Given the description of an element on the screen output the (x, y) to click on. 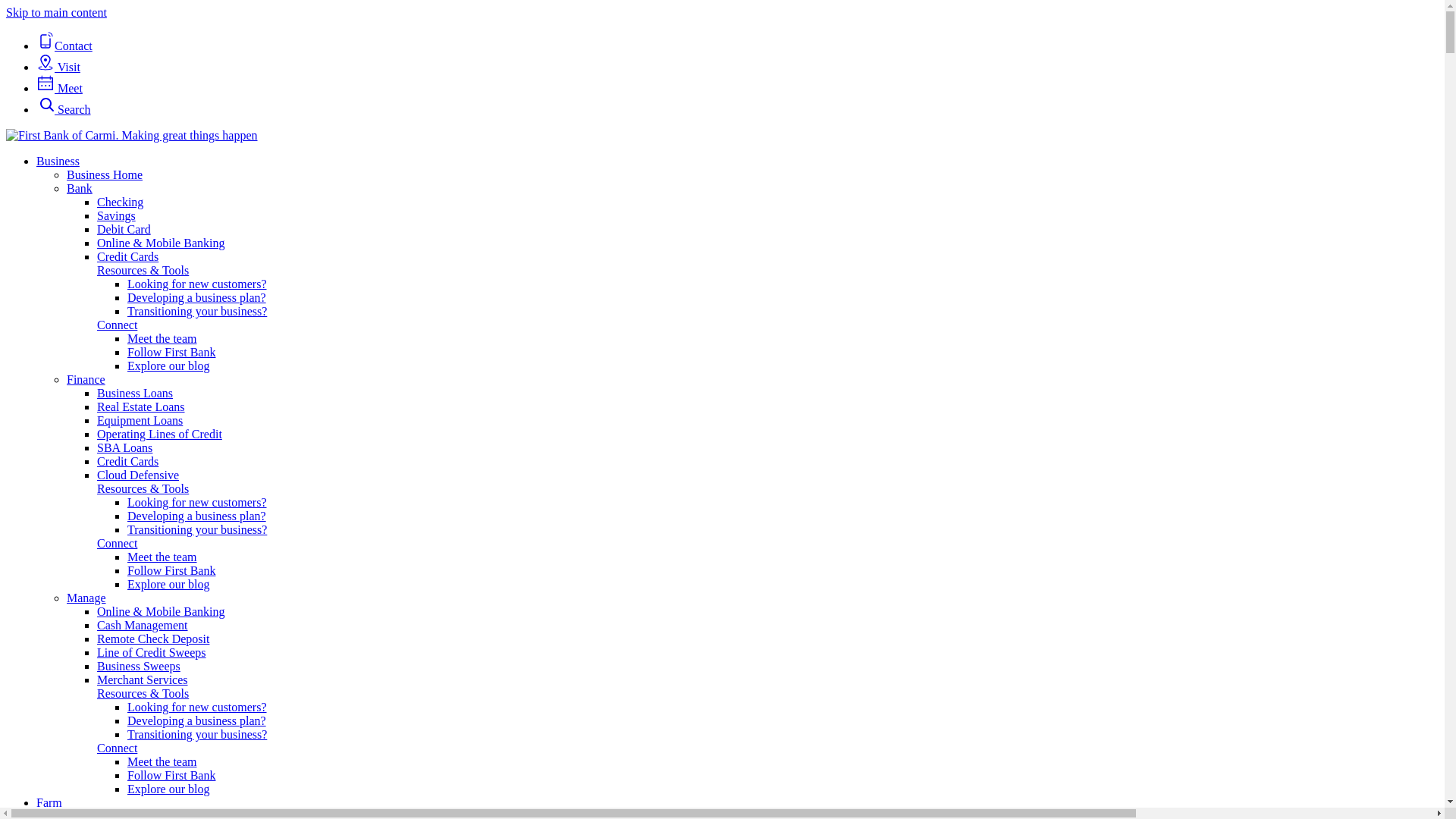
Meet the team Element type: text (162, 761)
Transitioning your business? Element type: text (196, 310)
Farm Element type: text (49, 802)
Business Loans Element type: text (134, 392)
Finance Element type: text (85, 379)
Credit Cards Element type: text (127, 256)
Savings Element type: text (116, 215)
Developing a business plan? Element type: text (196, 297)
Operating Lines of Credit Element type: text (159, 433)
Follow First Bank Element type: text (171, 570)
Explore our blog Element type: text (168, 583)
Checking Element type: text (120, 201)
Resources & Tools Element type: text (142, 693)
Resources & Tools Element type: text (142, 269)
Resources & Tools Element type: text (142, 488)
Search Element type: text (63, 109)
Developing a business plan? Element type: text (196, 515)
Follow First Bank Element type: text (171, 774)
Explore our blog Element type: text (168, 788)
First Bank of Carmi Element type: hover (131, 135)
Contact Element type: text (64, 45)
Meet the team Element type: text (162, 556)
Connect Element type: text (117, 542)
Meet Element type: text (59, 87)
Transitioning your business? Element type: text (196, 734)
Real Estate Loans Element type: text (141, 406)
Looking for new customers? Element type: text (196, 283)
Business Home Element type: text (104, 174)
Manage Element type: text (86, 597)
Debit Card Element type: text (123, 228)
Business Sweeps Element type: text (138, 665)
Business Element type: text (57, 160)
Explore our blog Element type: text (168, 365)
Credit Cards Element type: text (127, 461)
SBA Loans Element type: text (124, 447)
Line of Credit Sweeps Element type: text (151, 652)
Merchant Services Element type: text (142, 679)
Equipment Loans Element type: text (139, 420)
Bank Element type: text (79, 188)
Online & Mobile Banking Element type: text (160, 242)
Cloud Defensive Element type: text (137, 474)
Transitioning your business? Element type: text (196, 529)
Remote Check Deposit Element type: text (153, 638)
Meet the team Element type: text (162, 338)
Cash Management Element type: text (142, 624)
Connect Element type: text (117, 747)
Looking for new customers? Element type: text (196, 501)
Looking for new customers? Element type: text (196, 706)
Online & Mobile Banking Element type: text (160, 611)
Connect Element type: text (117, 324)
Skip to main content Element type: text (56, 12)
Developing a business plan? Element type: text (196, 720)
Visit Element type: text (58, 66)
Follow First Bank Element type: text (171, 351)
